Given the description of an element on the screen output the (x, y) to click on. 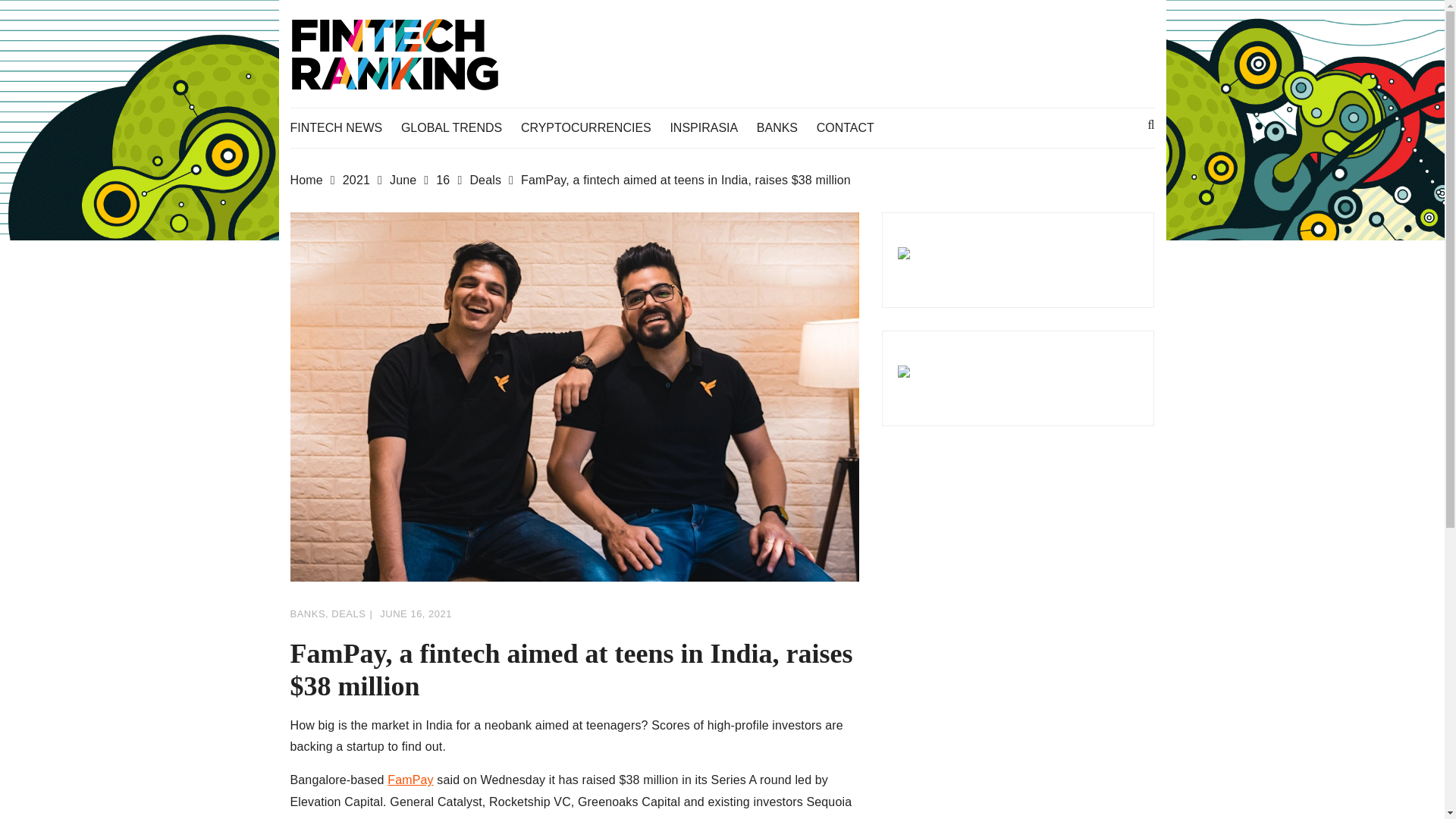
GLOBAL TRENDS (458, 128)
INSPIRASIA (710, 128)
BANKS (784, 128)
2021 (366, 180)
Home (315, 180)
CRYPTOCURRENCIES (593, 128)
CONTACT (852, 128)
June (412, 180)
FINTECH NEWS (343, 128)
